Given the description of an element on the screen output the (x, y) to click on. 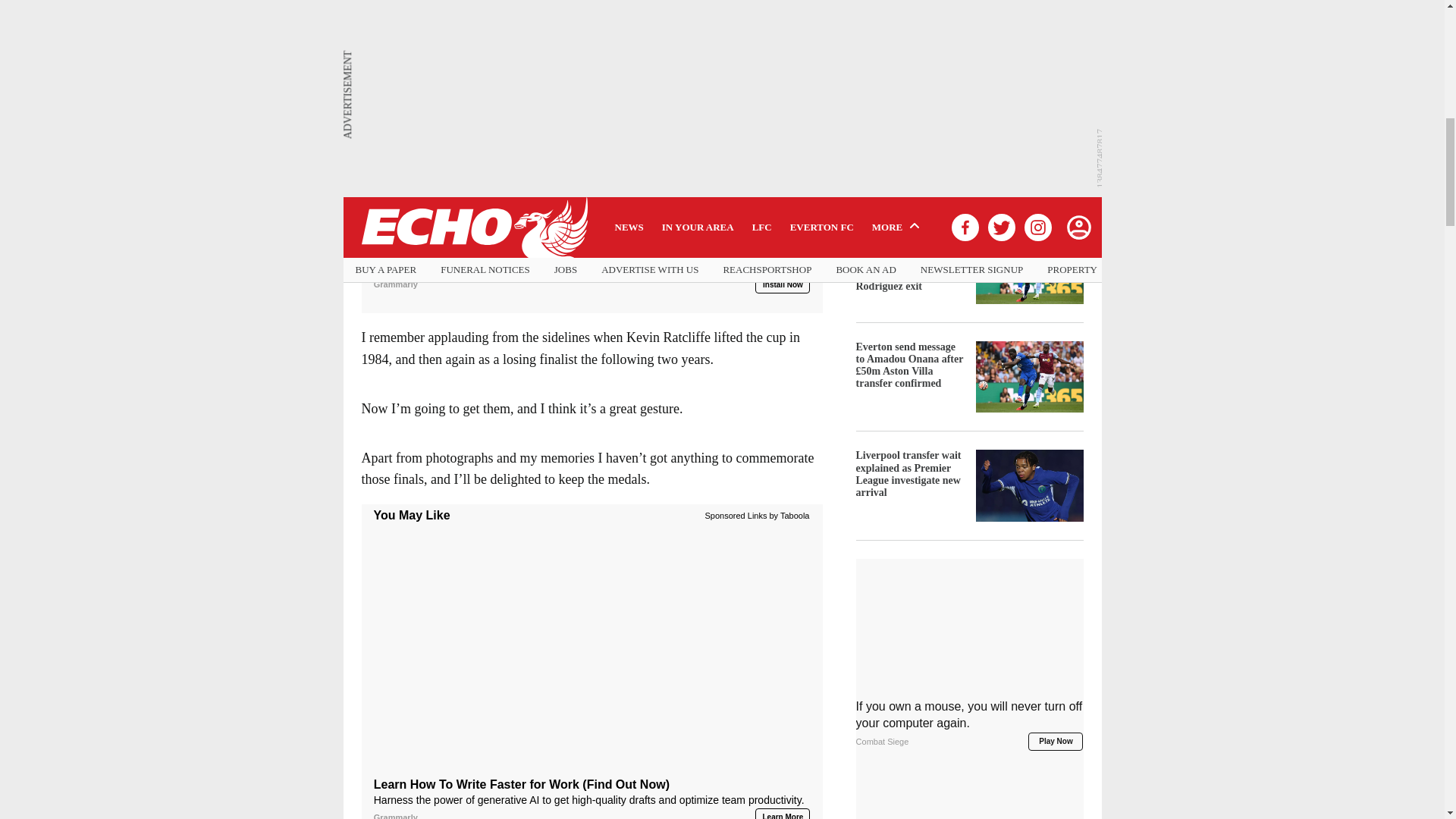
Write Better and Faster With This Desktop App (592, 265)
Install Now (782, 274)
Write Better and Faster With This Desktop App (592, 122)
by Taboola (788, 513)
